Given the description of an element on the screen output the (x, y) to click on. 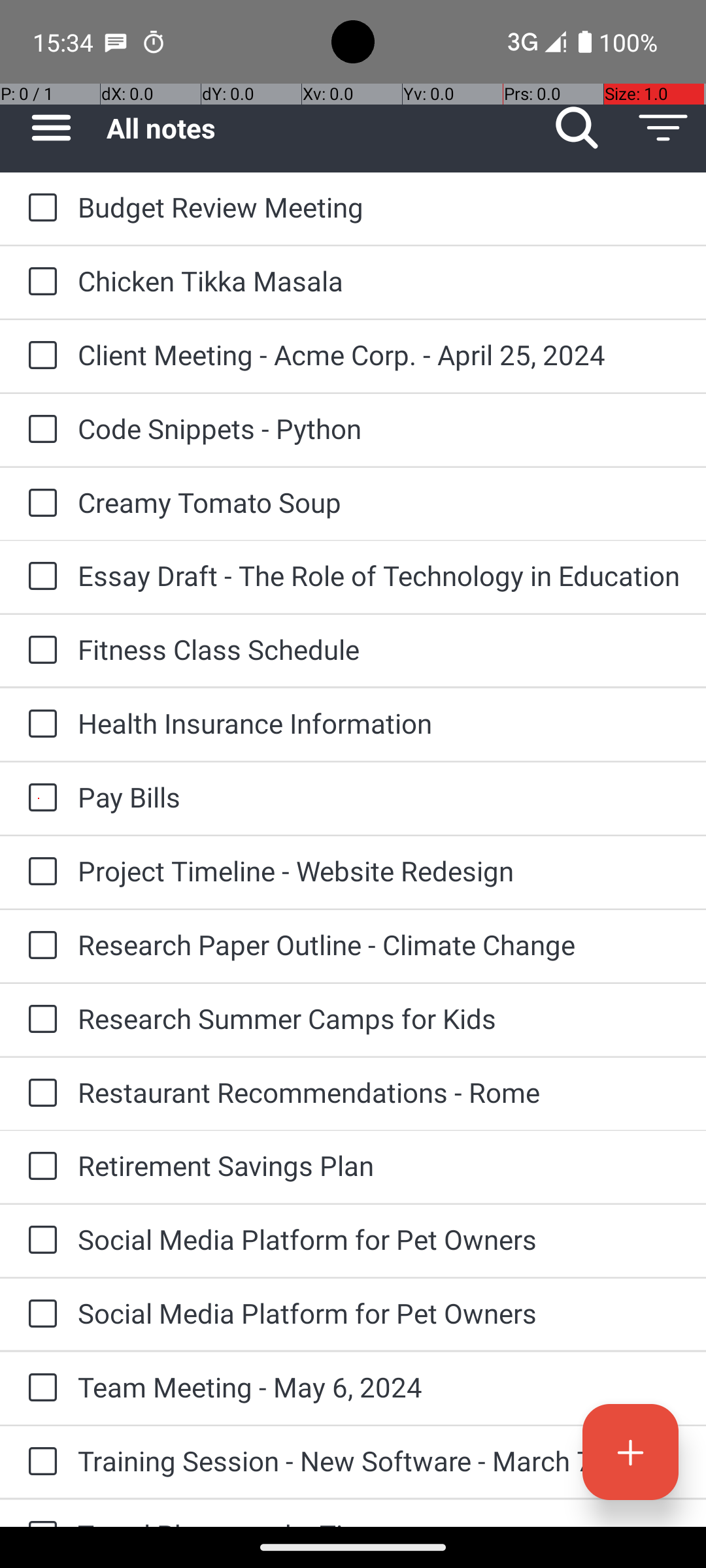
to-do: Budget Review Meeting Element type: android.widget.CheckBox (38, 208)
Budget Review Meeting Element type: android.widget.TextView (378, 206)
to-do: Chicken Tikka Masala Element type: android.widget.CheckBox (38, 282)
Chicken Tikka Masala Element type: android.widget.TextView (378, 280)
to-do: Client Meeting - Acme Corp. - April 25, 2024 Element type: android.widget.CheckBox (38, 356)
Client Meeting - Acme Corp. - April 25, 2024 Element type: android.widget.TextView (378, 354)
to-do: Code Snippets - Python Element type: android.widget.CheckBox (38, 429)
Code Snippets - Python Element type: android.widget.TextView (378, 427)
to-do: Creamy Tomato Soup Element type: android.widget.CheckBox (38, 503)
Creamy Tomato Soup Element type: android.widget.TextView (378, 501)
to-do: Fitness Class Schedule Element type: android.widget.CheckBox (38, 650)
Fitness Class Schedule Element type: android.widget.TextView (378, 648)
to-do: Health Insurance Information Element type: android.widget.CheckBox (38, 724)
Health Insurance Information Element type: android.widget.TextView (378, 722)
to-do: Pay Bills Element type: android.widget.CheckBox (38, 798)
Pay Bills Element type: android.widget.TextView (378, 796)
to-do: Project Timeline - Website Redesign Element type: android.widget.CheckBox (38, 872)
Project Timeline - Website Redesign Element type: android.widget.TextView (378, 870)
to-do: Research Paper Outline - Climate Change Element type: android.widget.CheckBox (38, 945)
Research Paper Outline - Climate Change Element type: android.widget.TextView (378, 944)
to-do: Research Summer Camps for Kids Element type: android.widget.CheckBox (38, 1019)
Research Summer Camps for Kids Element type: android.widget.TextView (378, 1017)
to-do: Restaurant Recommendations - Rome Element type: android.widget.CheckBox (38, 1093)
Restaurant Recommendations - Rome Element type: android.widget.TextView (378, 1091)
to-do: Retirement Savings Plan Element type: android.widget.CheckBox (38, 1166)
Retirement Savings Plan Element type: android.widget.TextView (378, 1164)
to-do: Social Media Platform for Pet Owners Element type: android.widget.CheckBox (38, 1240)
Social Media Platform for Pet Owners Element type: android.widget.TextView (378, 1238)
to-do: Team Meeting - May 6, 2024 Element type: android.widget.CheckBox (38, 1388)
Team Meeting - May 6, 2024 Element type: android.widget.TextView (378, 1386)
to-do: Training Session - New Software - March 7, 2024 Element type: android.widget.CheckBox (38, 1462)
Training Session - New Software - March 7, 2024 Element type: android.widget.TextView (378, 1460)
to-do: Travel Photography Tips Element type: android.widget.CheckBox (38, 1513)
Travel Photography Tips Element type: android.widget.TextView (378, 1520)
